Given the description of an element on the screen output the (x, y) to click on. 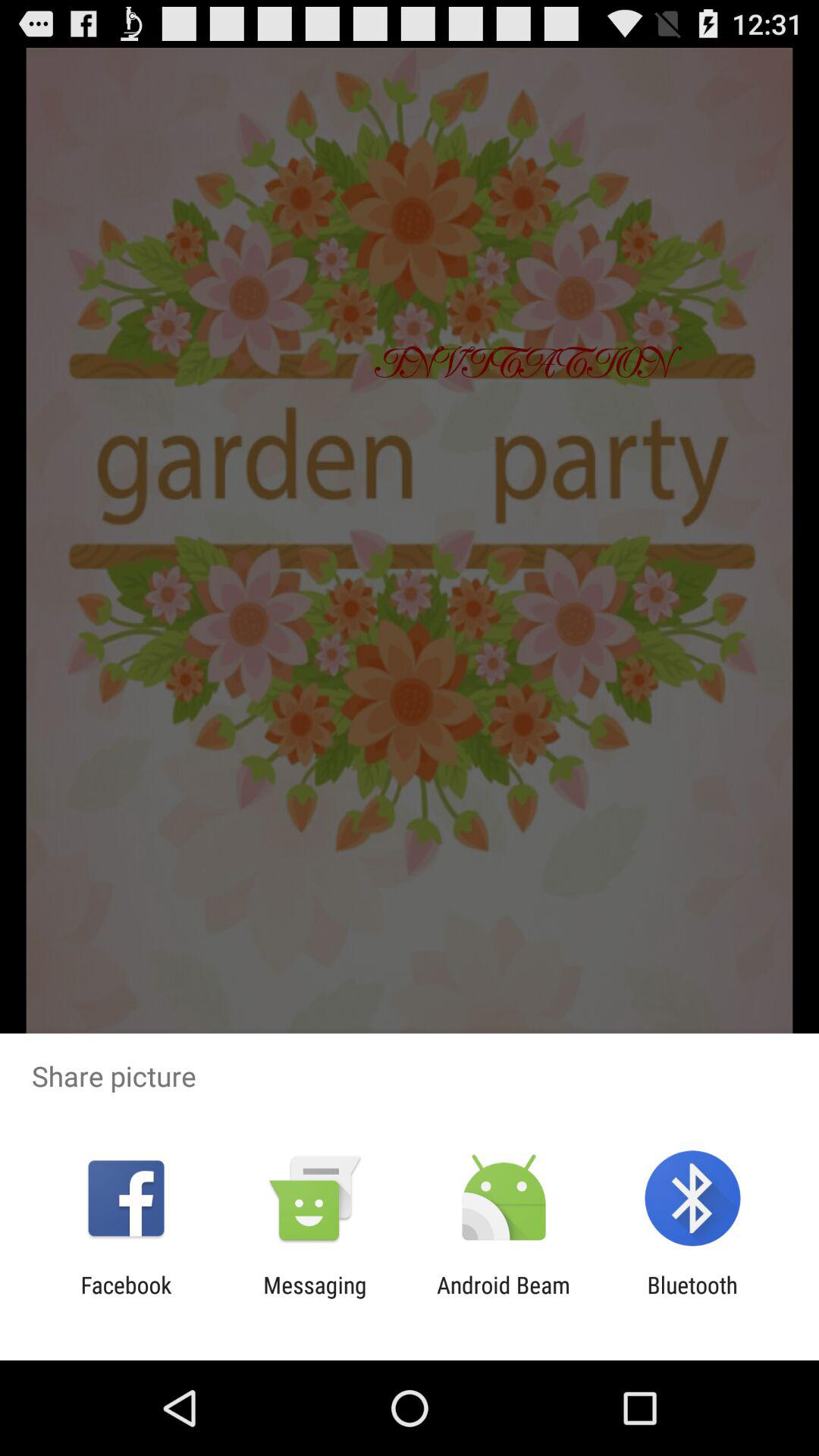
jump until android beam app (503, 1298)
